Given the description of an element on the screen output the (x, y) to click on. 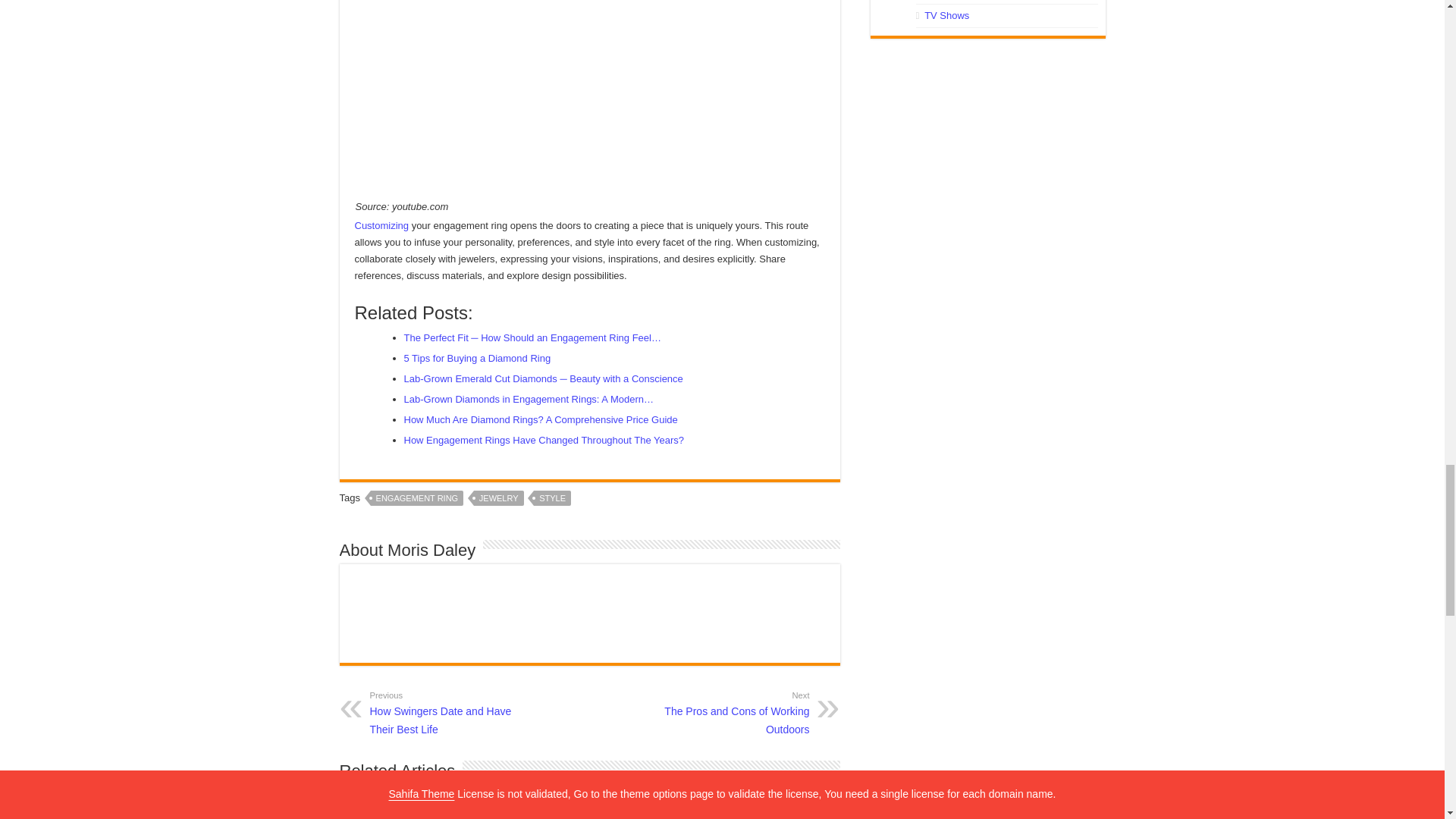
How Engagement Rings Have Changed Throughout The Years? (543, 439)
5 Tips for Buying a Diamond Ring (731, 711)
JEWELRY (476, 357)
ENGAGEMENT RING (447, 711)
How Much Are Diamond Rings? A Comprehensive Price Guide (499, 498)
STYLE (417, 498)
Customizing (540, 419)
